Given the description of an element on the screen output the (x, y) to click on. 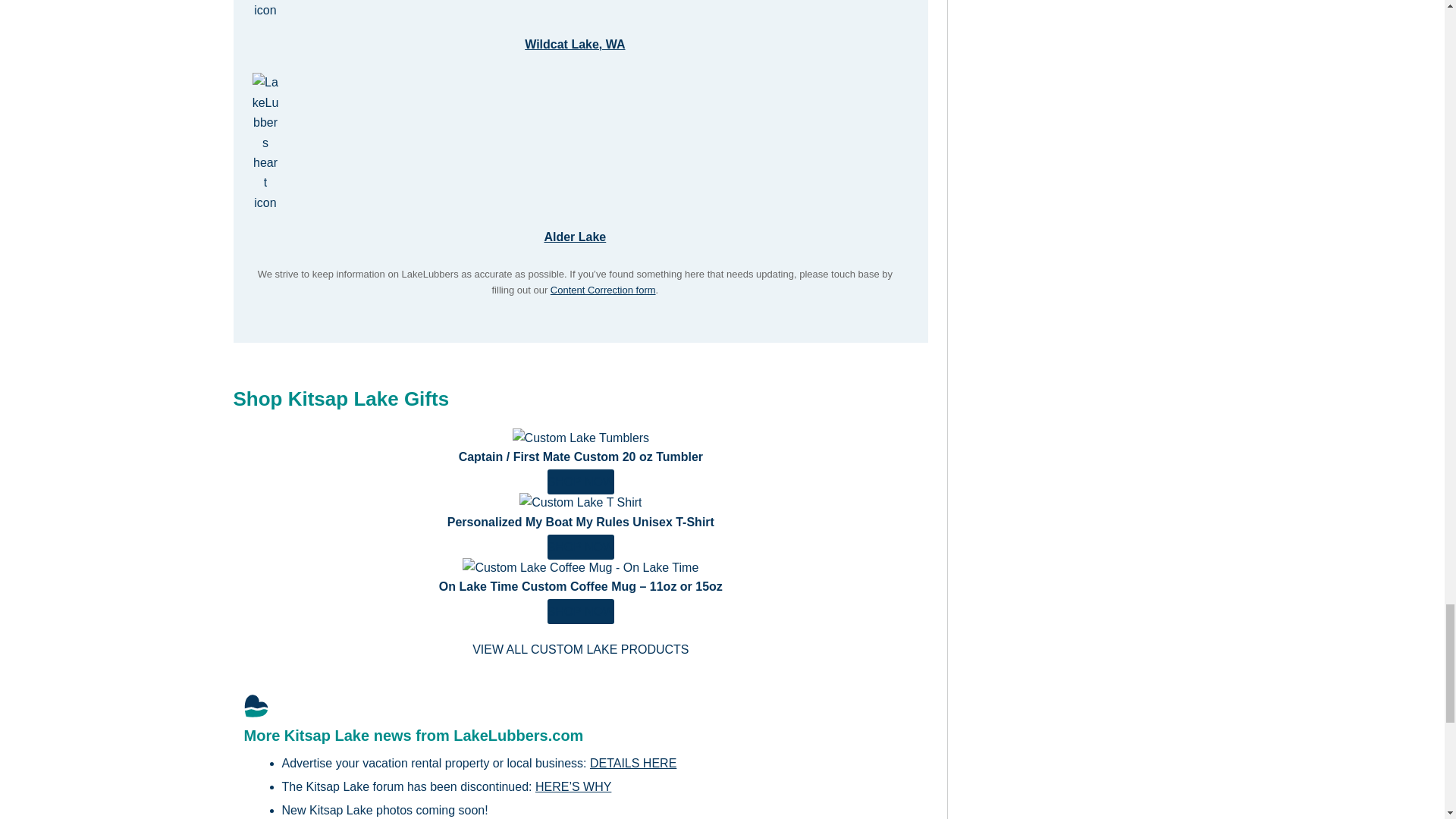
Custom Lake Coffee Mug - On Lake Time (580, 566)
Custom Lake Coffee Mug - On Lake Time (580, 611)
Custom Lake Tumbler - Captain or First Mate (580, 481)
Custom Lake Shirt - My Boat My Rules (580, 502)
Custom Lake Tumbler - Captain or First Mate (580, 436)
Custom Lake Products (579, 649)
Custom Lake Shirt - My Boat My Rules (580, 546)
